Given the description of an element on the screen output the (x, y) to click on. 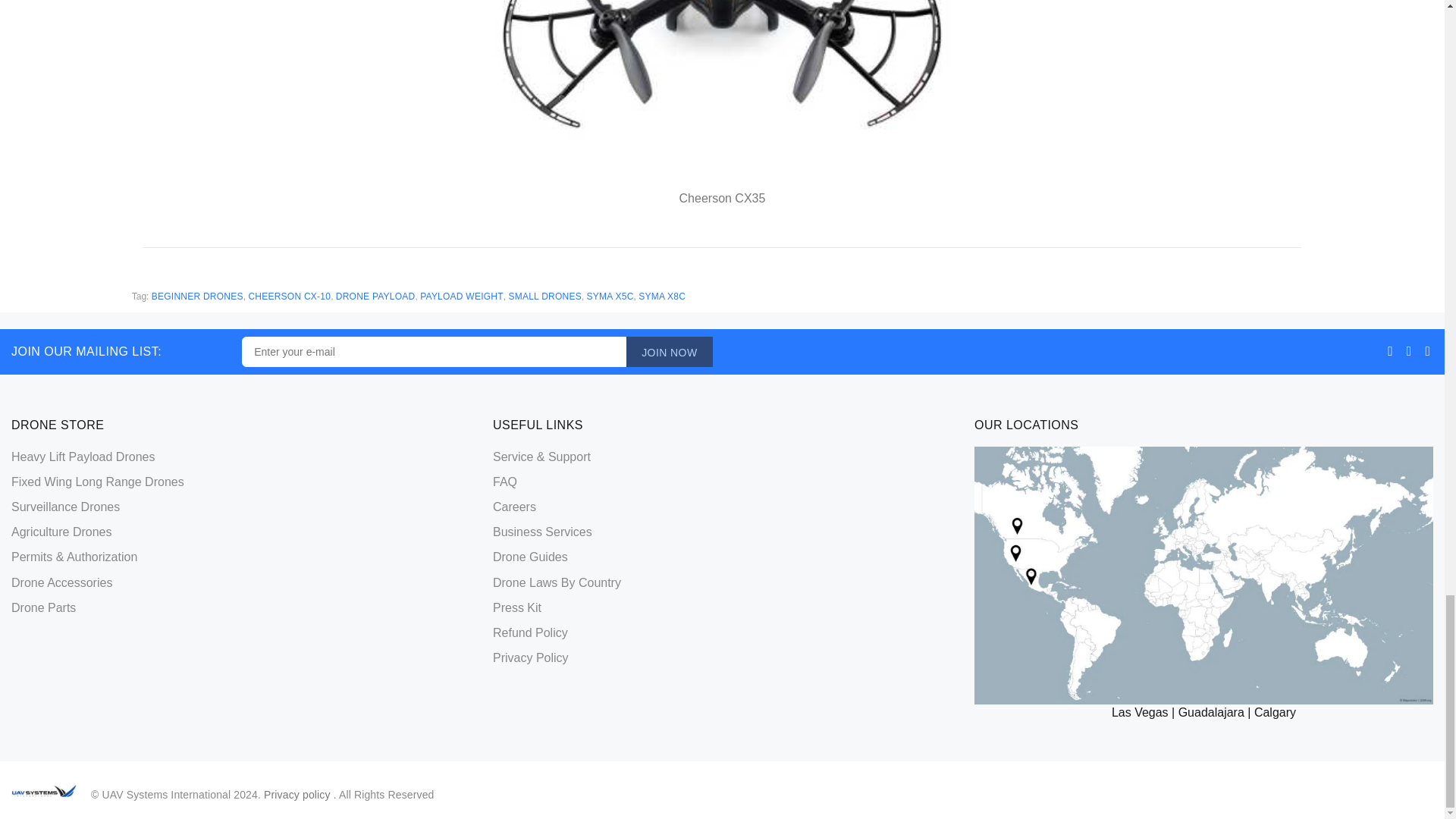
Show products matching tag syma x8c (662, 296)
Show products matching tag payload weight (461, 296)
Show products matching tag beginner drones (197, 296)
Show products matching tag small drones (544, 296)
Cheerson CX35 (721, 92)
Show products matching tag syma x5c (609, 296)
Show products matching tag drone payload (375, 296)
Show products matching tag cheerson cx-10 (288, 296)
